Given the description of an element on the screen output the (x, y) to click on. 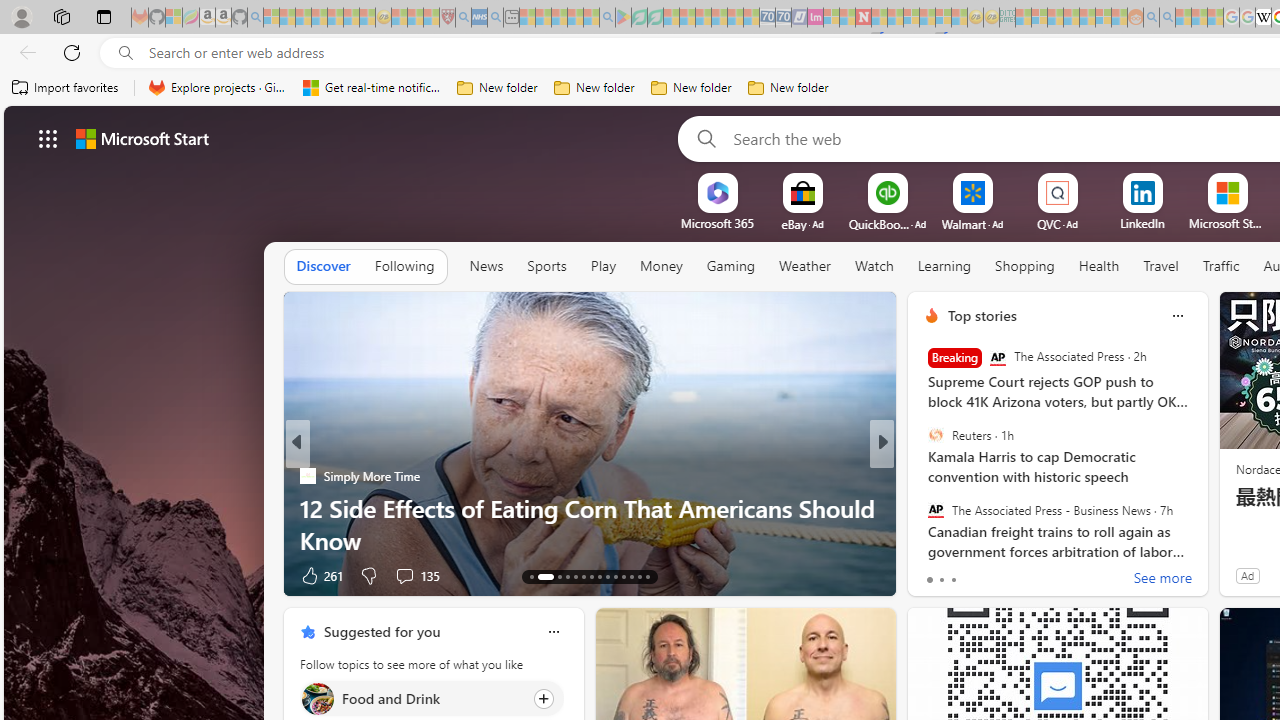
Following (404, 265)
Watch (874, 265)
Jobs - lastminute.com Investor Portal - Sleeping (815, 17)
Travel (1160, 265)
Microsoft-Report a Concern to Bing - Sleeping (173, 17)
To get missing image descriptions, open the context menu. (717, 192)
tab-0 (928, 579)
News (486, 265)
73 Like (934, 574)
The Associated Press - Business News (935, 509)
Ad (1247, 575)
